Given the description of an element on the screen output the (x, y) to click on. 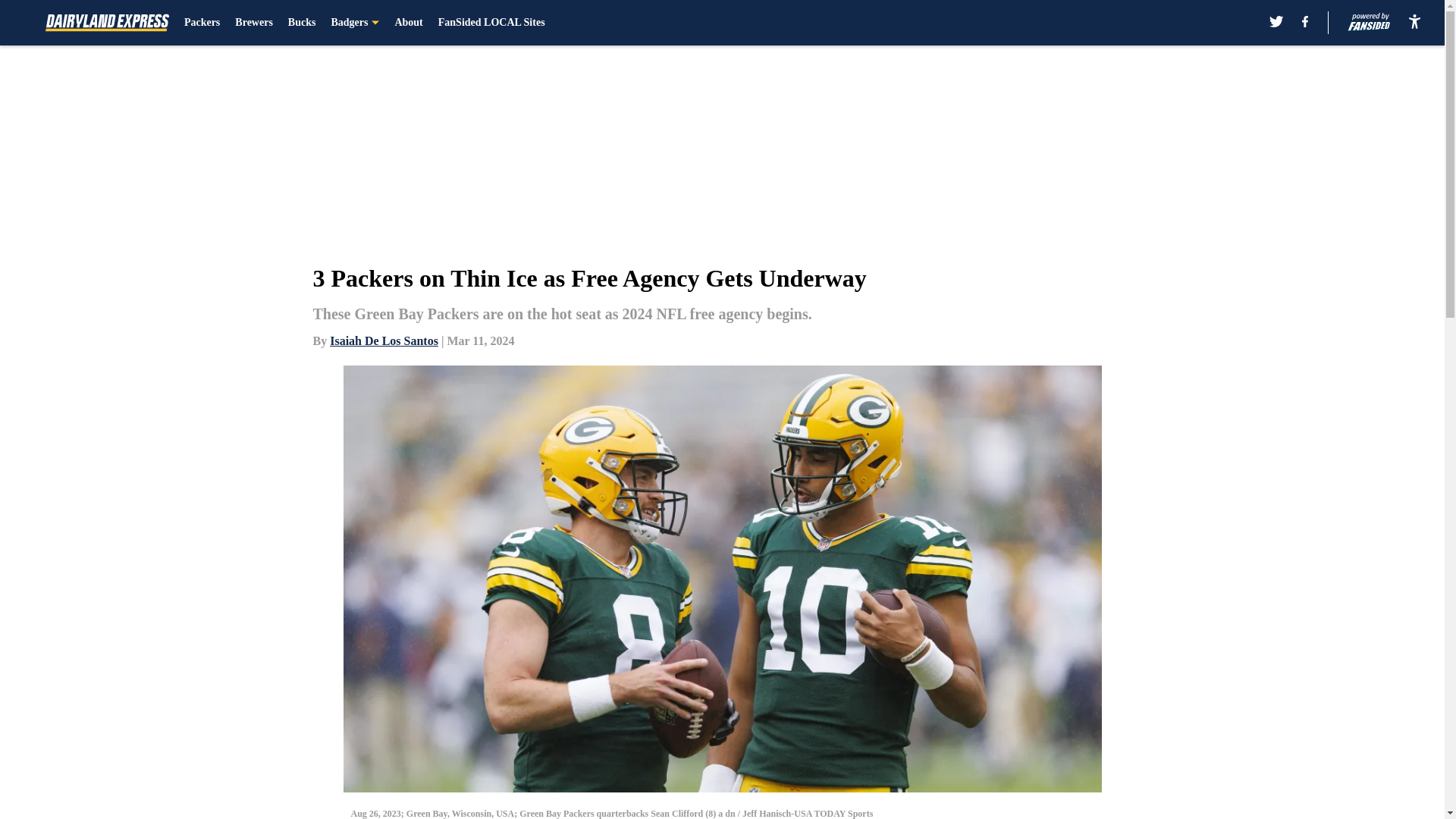
Brewers (253, 22)
Packers (201, 22)
Isaiah De Los Santos (384, 340)
FanSided LOCAL Sites (491, 22)
About (408, 22)
Bucks (301, 22)
